Given the description of an element on the screen output the (x, y) to click on. 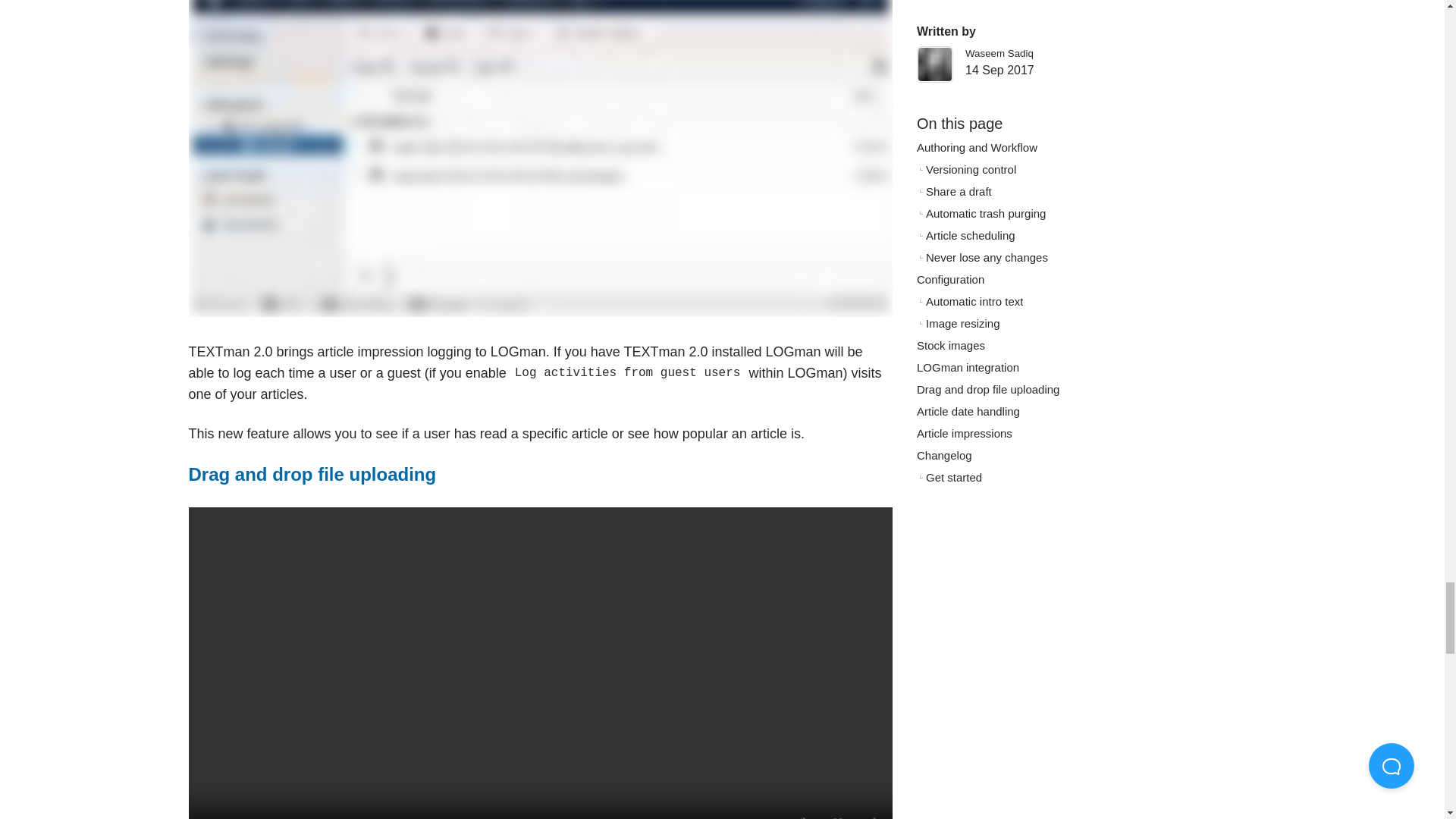
Drag and drop file uploading (311, 474)
